Given the description of an element on the screen output the (x, y) to click on. 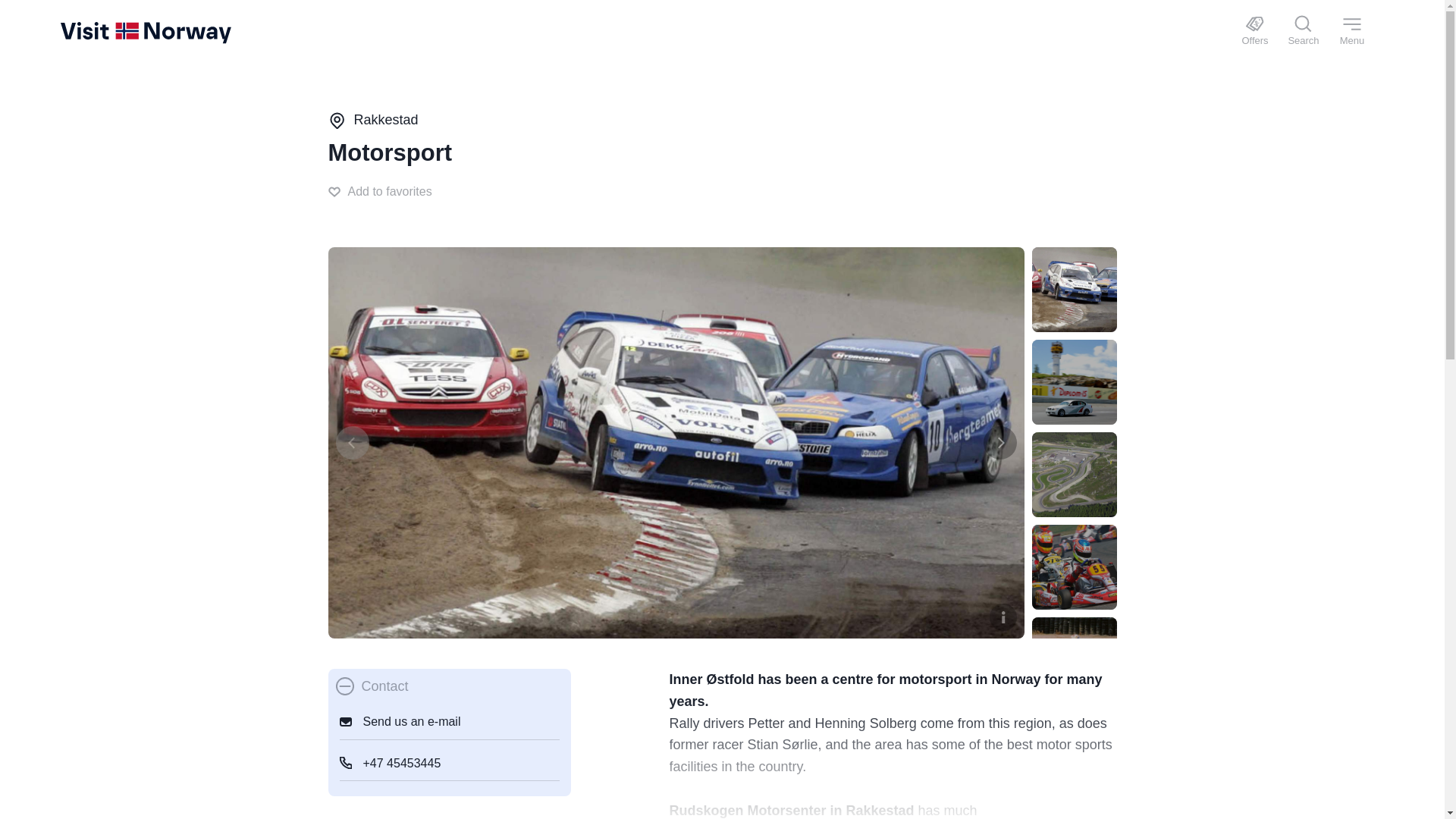
Contact (370, 686)
Send us an e-mail (449, 722)
Menu (1351, 31)
Add to favorites (378, 191)
Search (1303, 31)
Offers (1255, 31)
